Given the description of an element on the screen output the (x, y) to click on. 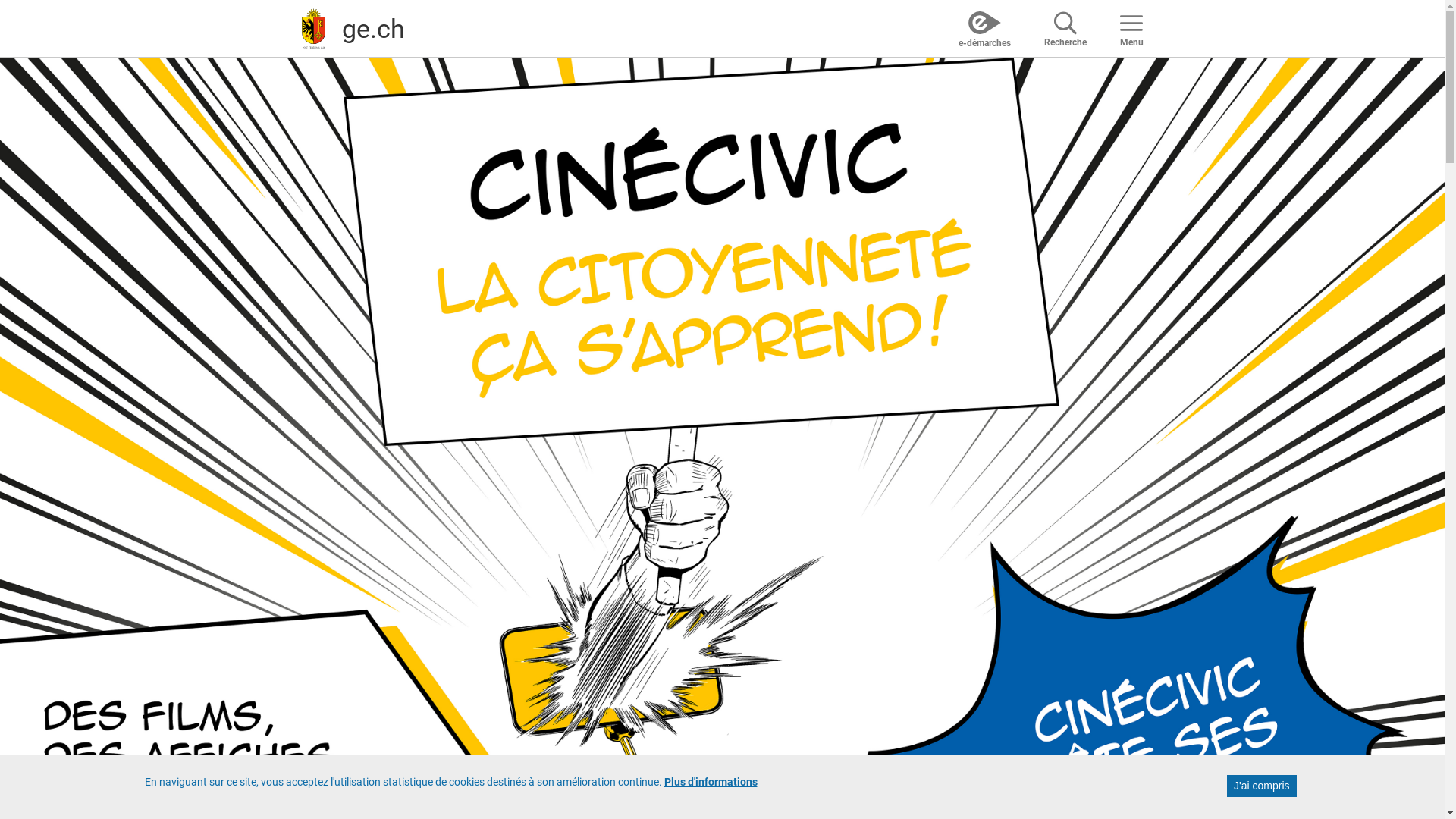
ge.ch Element type: text (373, 27)
Recherche Element type: text (1064, 28)
Menu Element type: text (1130, 28)
Plus d'informations Element type: text (710, 782)
J'ai compris Element type: text (1260, 786)
